Given the description of an element on the screen output the (x, y) to click on. 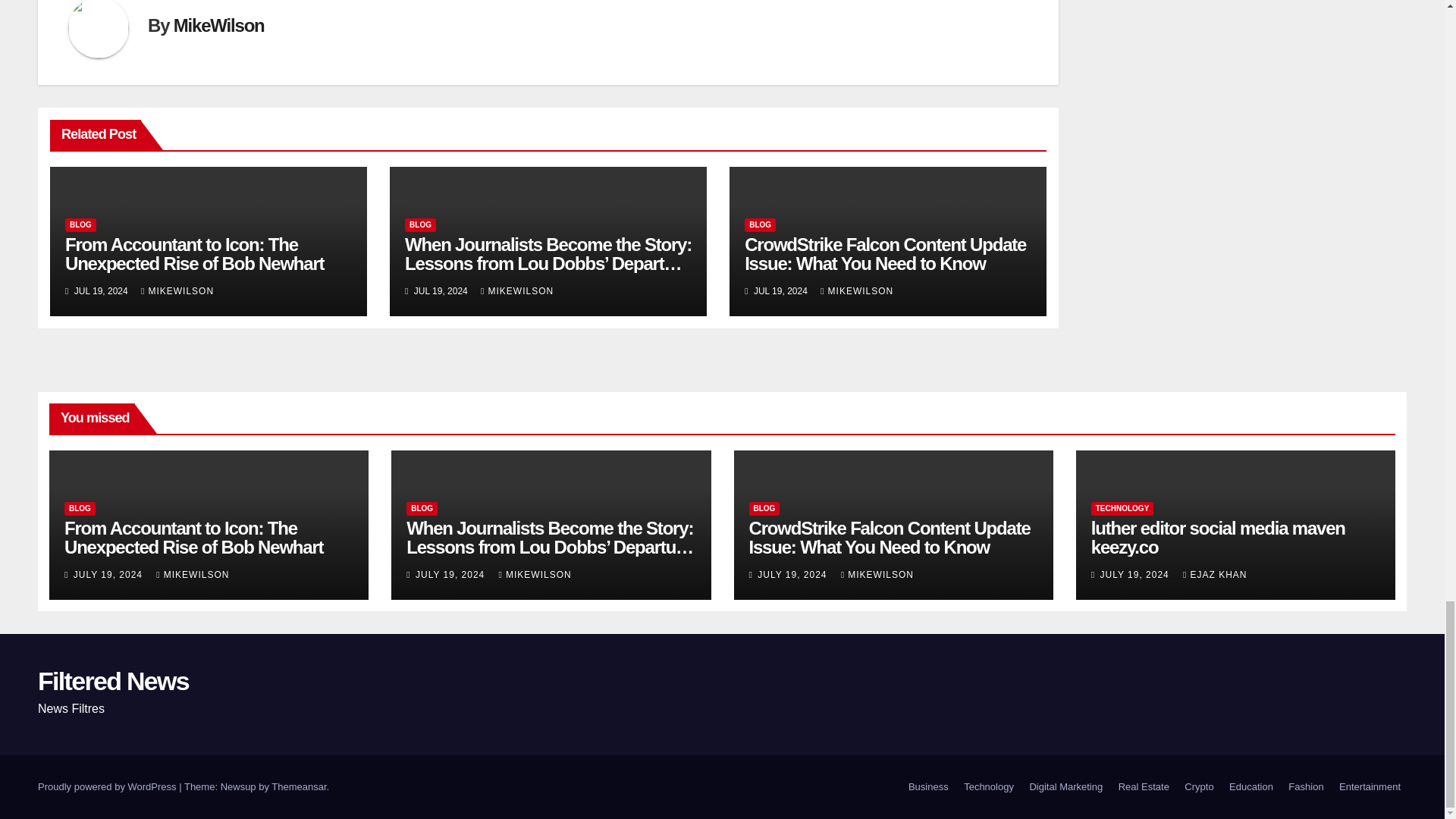
MikeWilson (218, 25)
BLOG (80, 224)
